Given the description of an element on the screen output the (x, y) to click on. 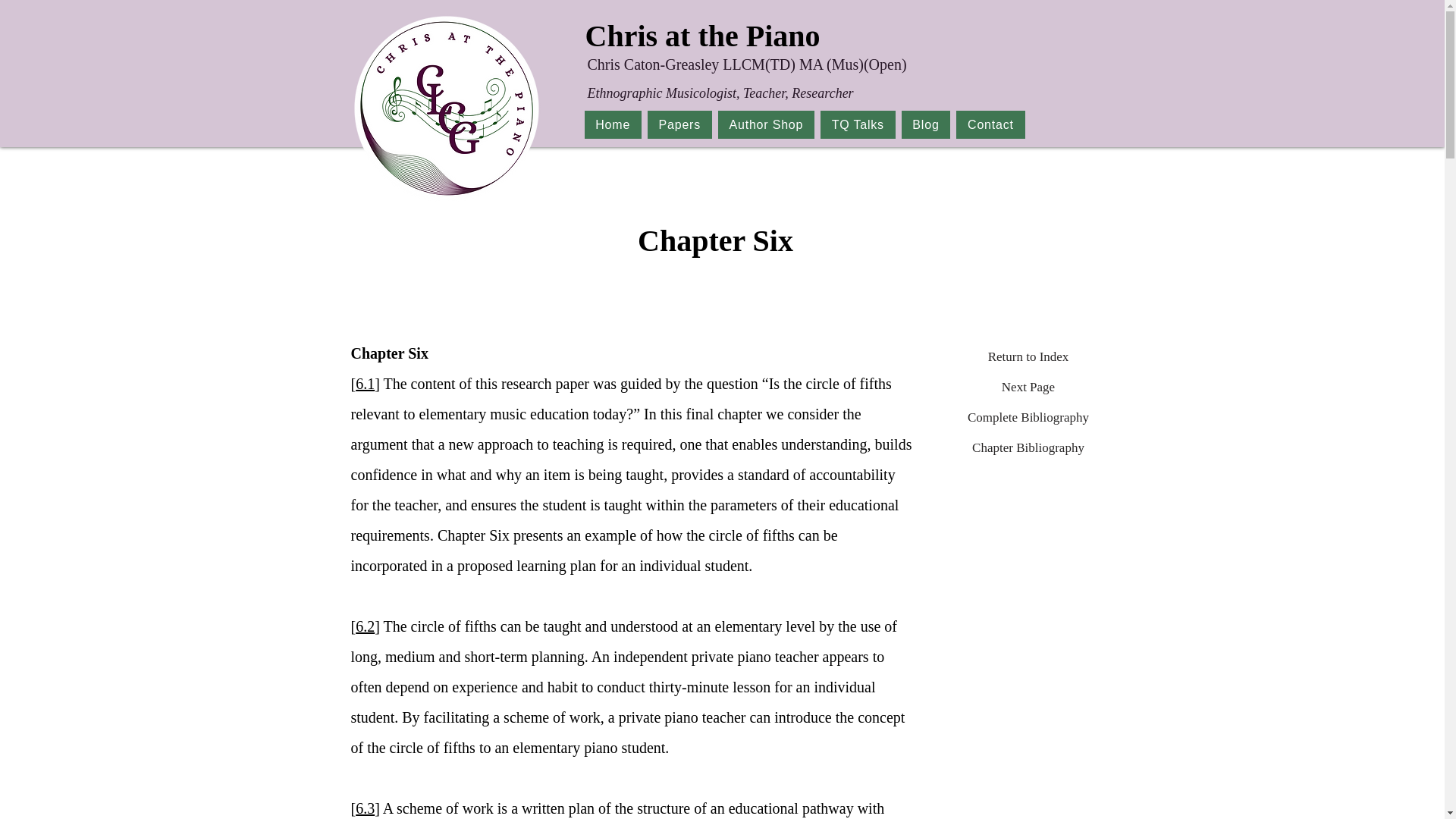
Author Shop (765, 124)
Return to Index (1027, 357)
Papers (804, 124)
Chapter Bibliography (679, 124)
6.1 (1027, 448)
6.2 (364, 383)
Blog (364, 626)
Complete Bibliography (925, 124)
TQ Talks (1027, 417)
